Given the description of an element on the screen output the (x, y) to click on. 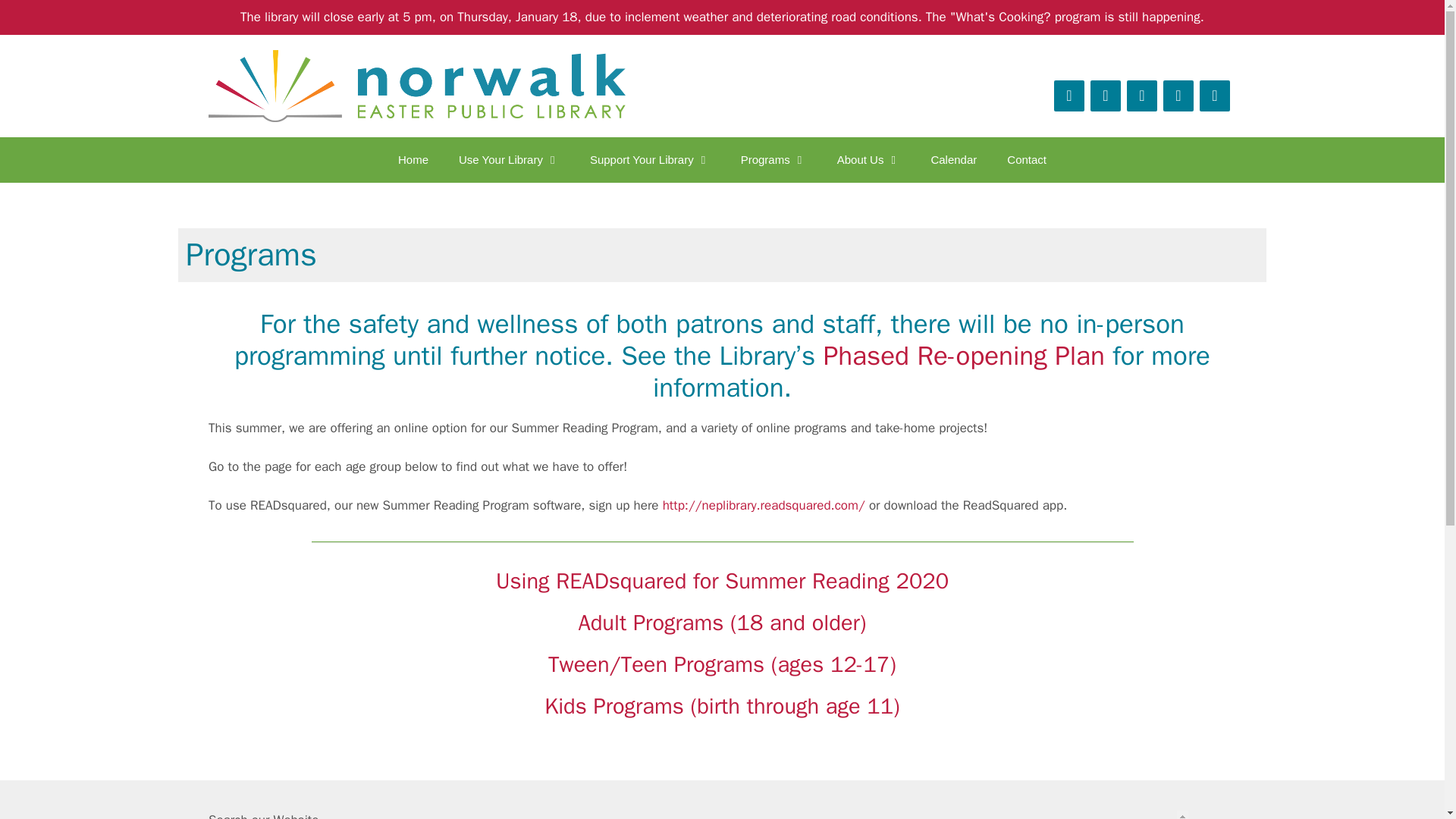
Home (413, 159)
About Us (868, 159)
Use Your Library (509, 159)
Phone (1069, 95)
Support Your Library (650, 159)
Contact (1105, 95)
Facebook (1141, 95)
Programs (773, 159)
YouTube (1214, 95)
Instagram (1178, 95)
